Given the description of an element on the screen output the (x, y) to click on. 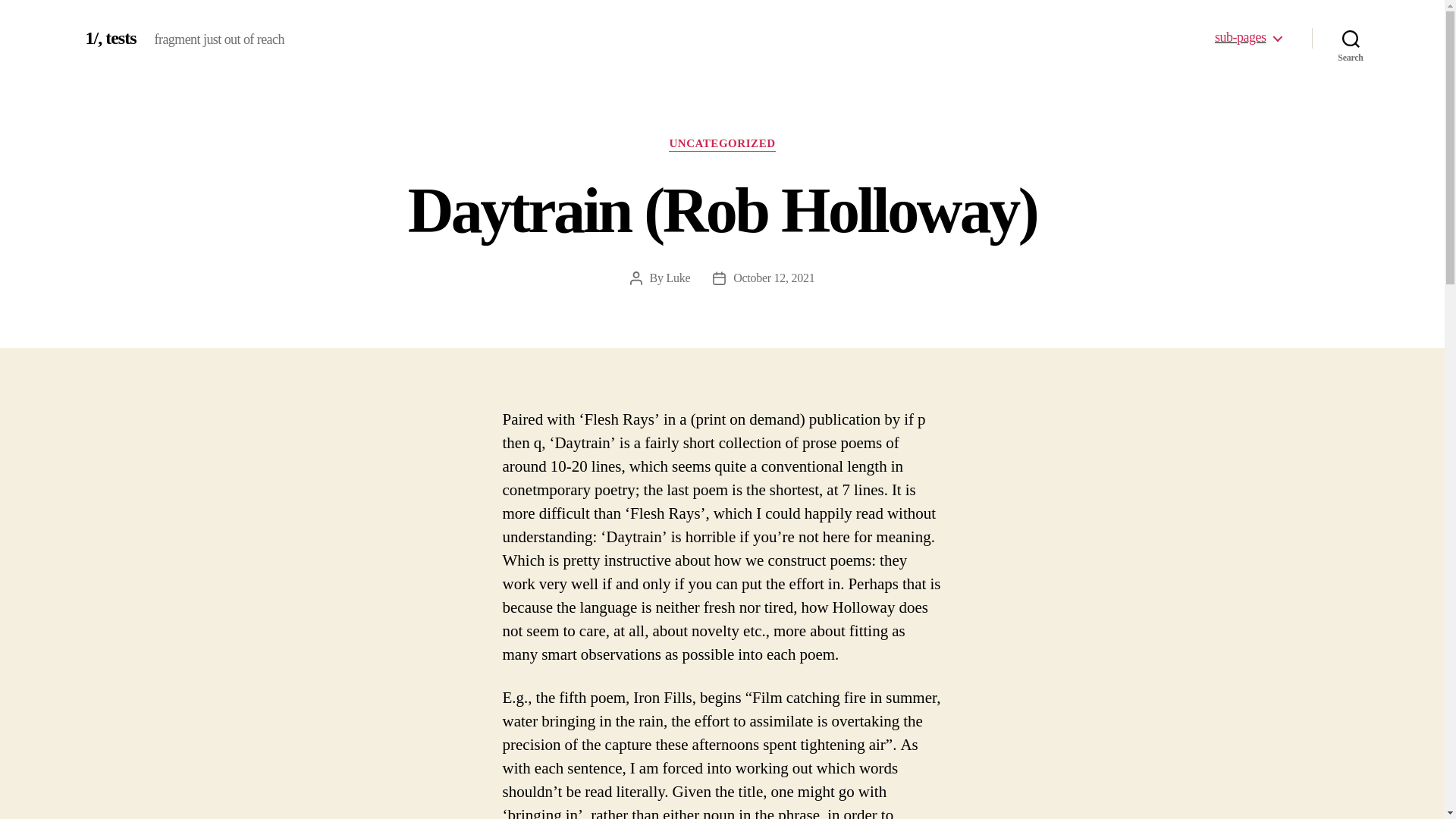
sub-pages (1247, 37)
